Given the description of an element on the screen output the (x, y) to click on. 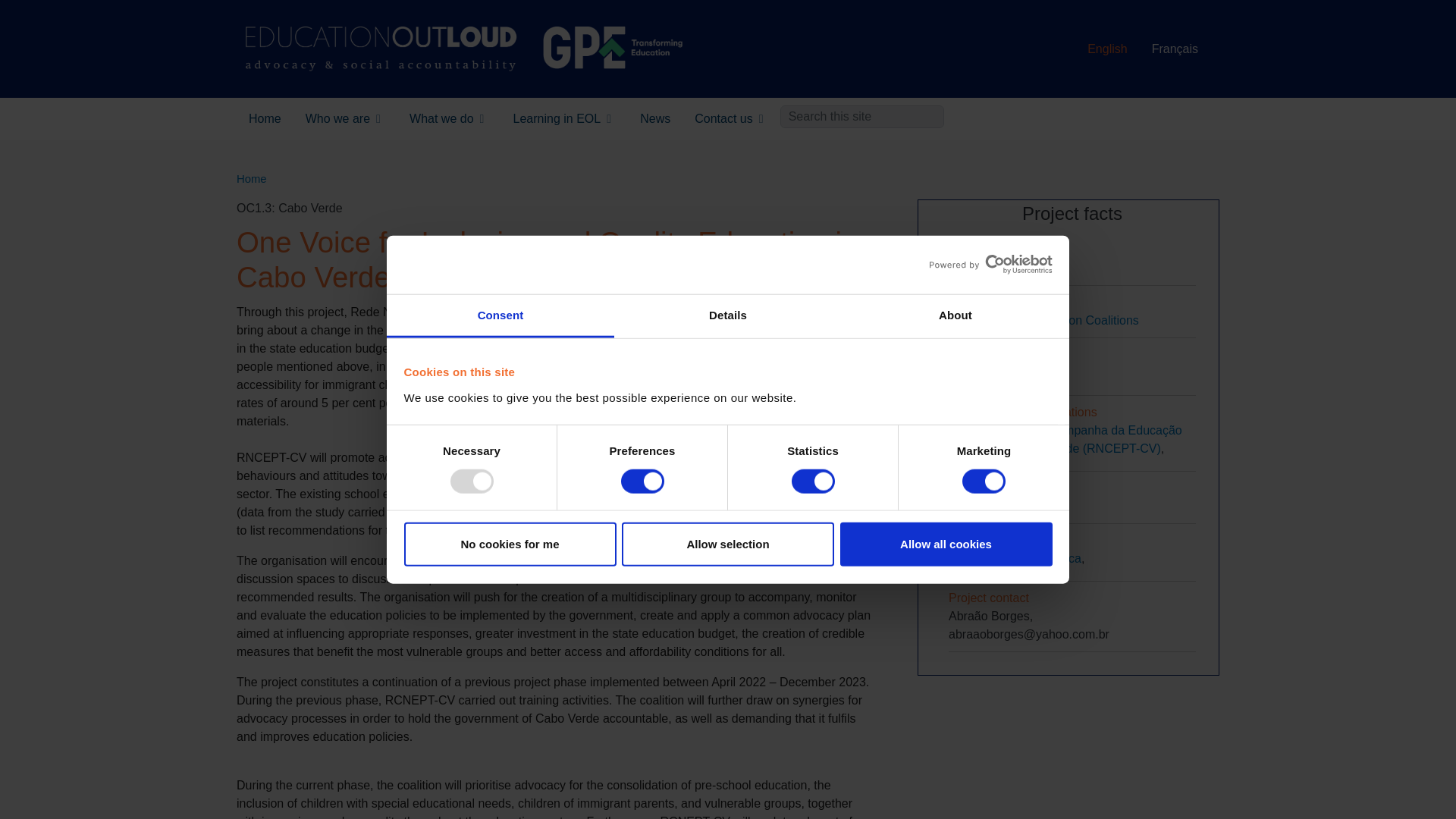
English (1106, 48)
No cookies for me (509, 544)
Home (264, 119)
About (954, 316)
Home (463, 48)
Allow all cookies (946, 544)
Consent (500, 316)
Details (727, 316)
Allow selection (727, 544)
